Given the description of an element on the screen output the (x, y) to click on. 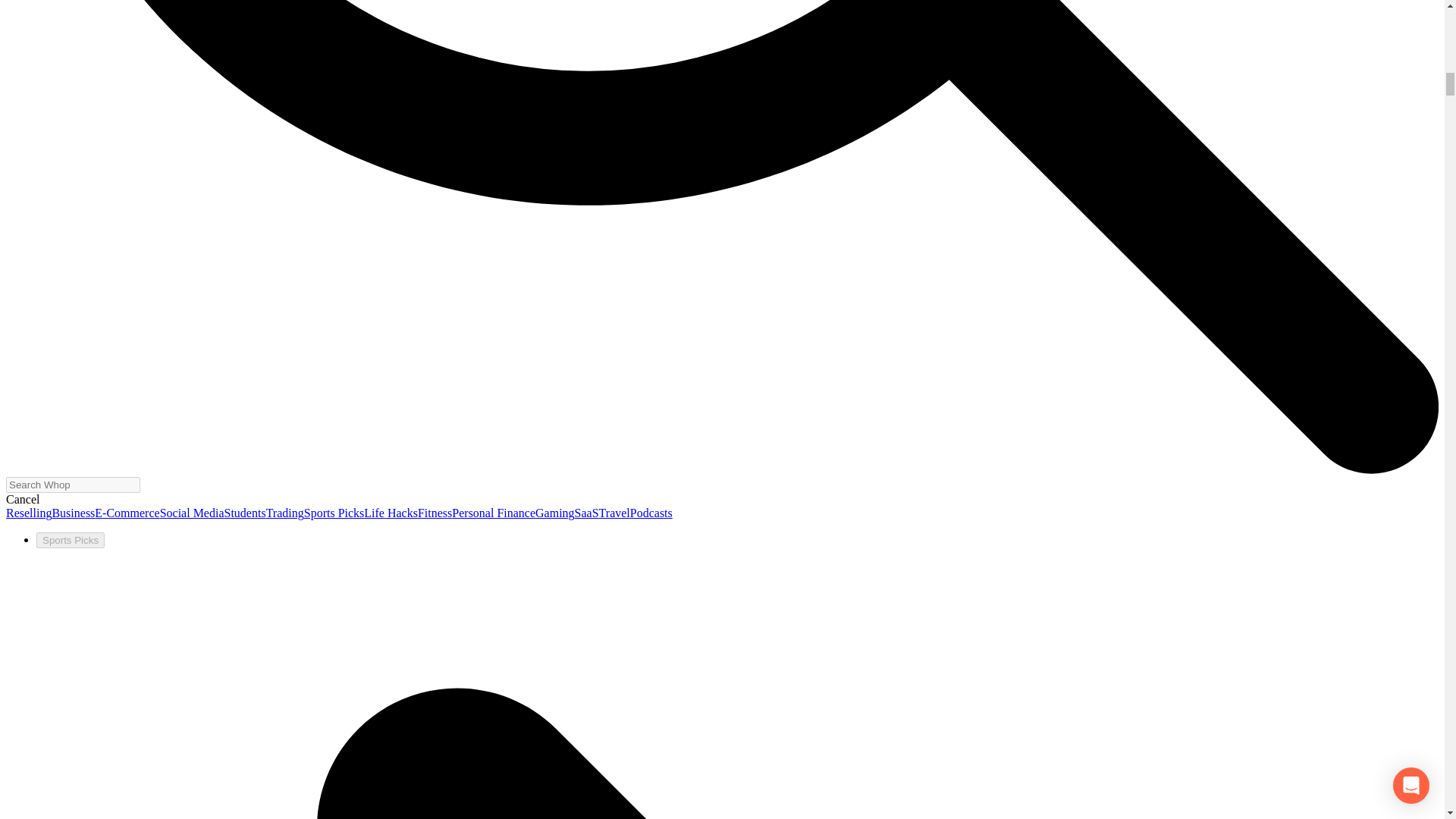
Fitness (434, 512)
Trading (285, 512)
Sports Picks (70, 539)
Reselling (27, 512)
SaaS (586, 512)
Personal Finance (493, 512)
E-Commerce (126, 512)
Life Hacks (390, 512)
Sports Picks (70, 539)
Gaming (555, 512)
Students (245, 512)
Business (72, 512)
Podcasts (651, 512)
Travel (614, 512)
Sports Picks (334, 512)
